Given the description of an element on the screen output the (x, y) to click on. 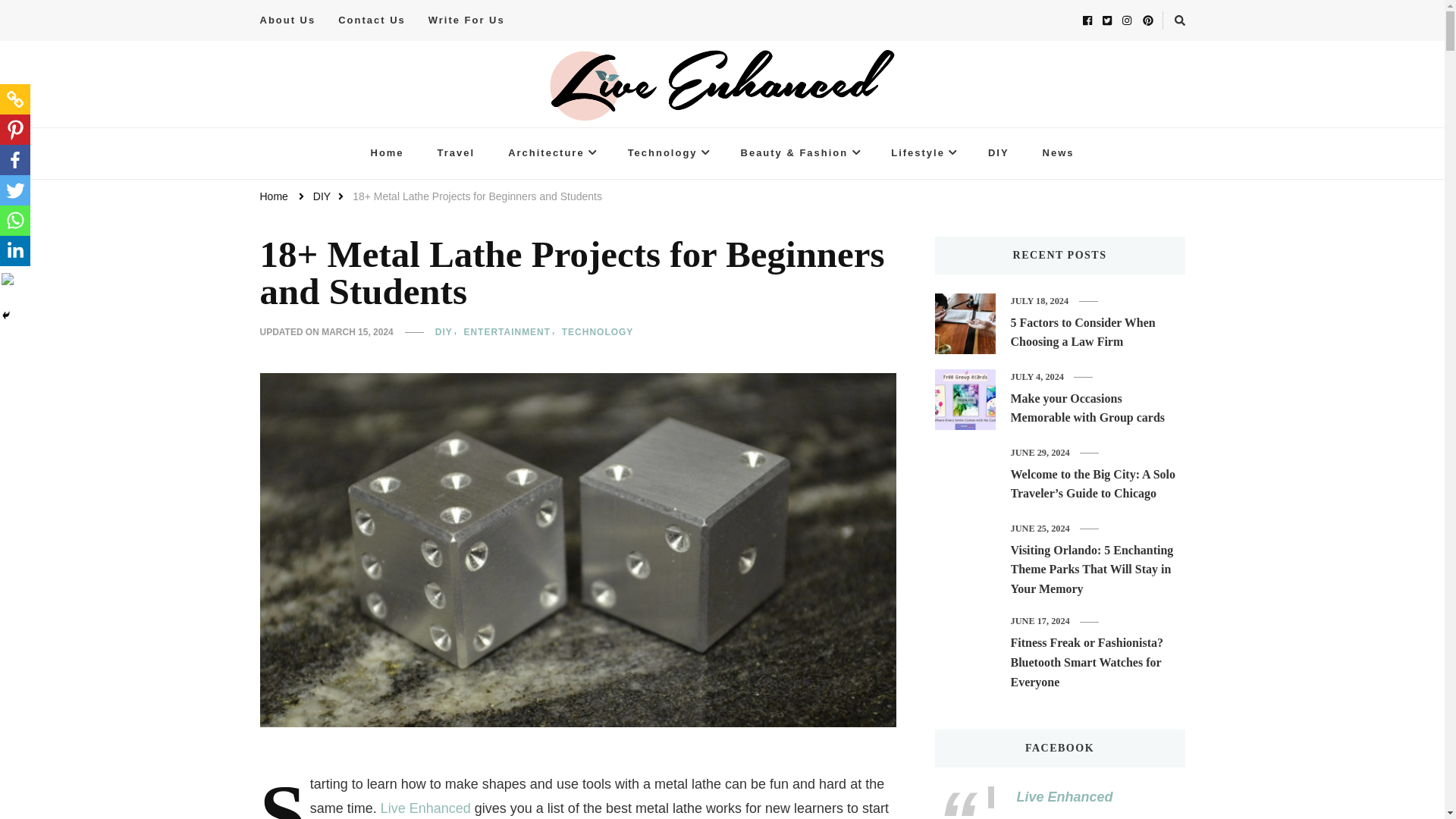
Linkedin (15, 250)
Architecture (551, 153)
Contact Us (371, 20)
Hide (5, 315)
Travel (456, 153)
Lifestyle (923, 153)
Twitter (15, 190)
Technology (667, 153)
Whatsapp (15, 220)
Pinterest (15, 129)
Copy Link (15, 99)
Search (1155, 22)
About Us (292, 20)
Live Enhanced (332, 141)
Write For Us (466, 20)
